Given the description of an element on the screen output the (x, y) to click on. 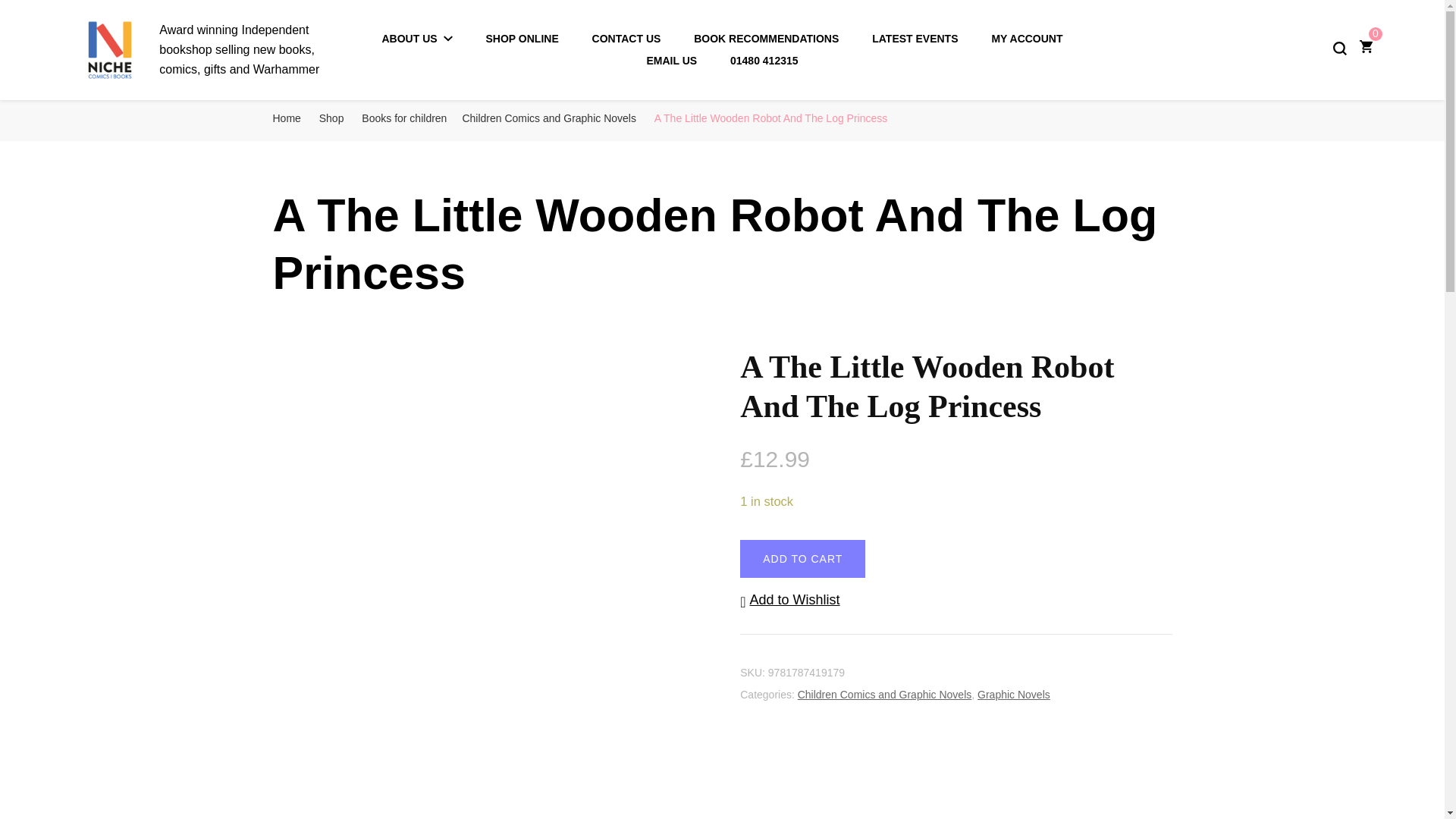
EMAIL US (671, 60)
MY ACCOUNT (1026, 38)
Shop (330, 118)
CONTACT US (626, 38)
Home (287, 118)
SHOP ONLINE (522, 38)
01480 412315 (763, 60)
LATEST EVENTS (915, 38)
ABOUT US (416, 38)
BOOK RECOMMENDATIONS (766, 38)
